Given the description of an element on the screen output the (x, y) to click on. 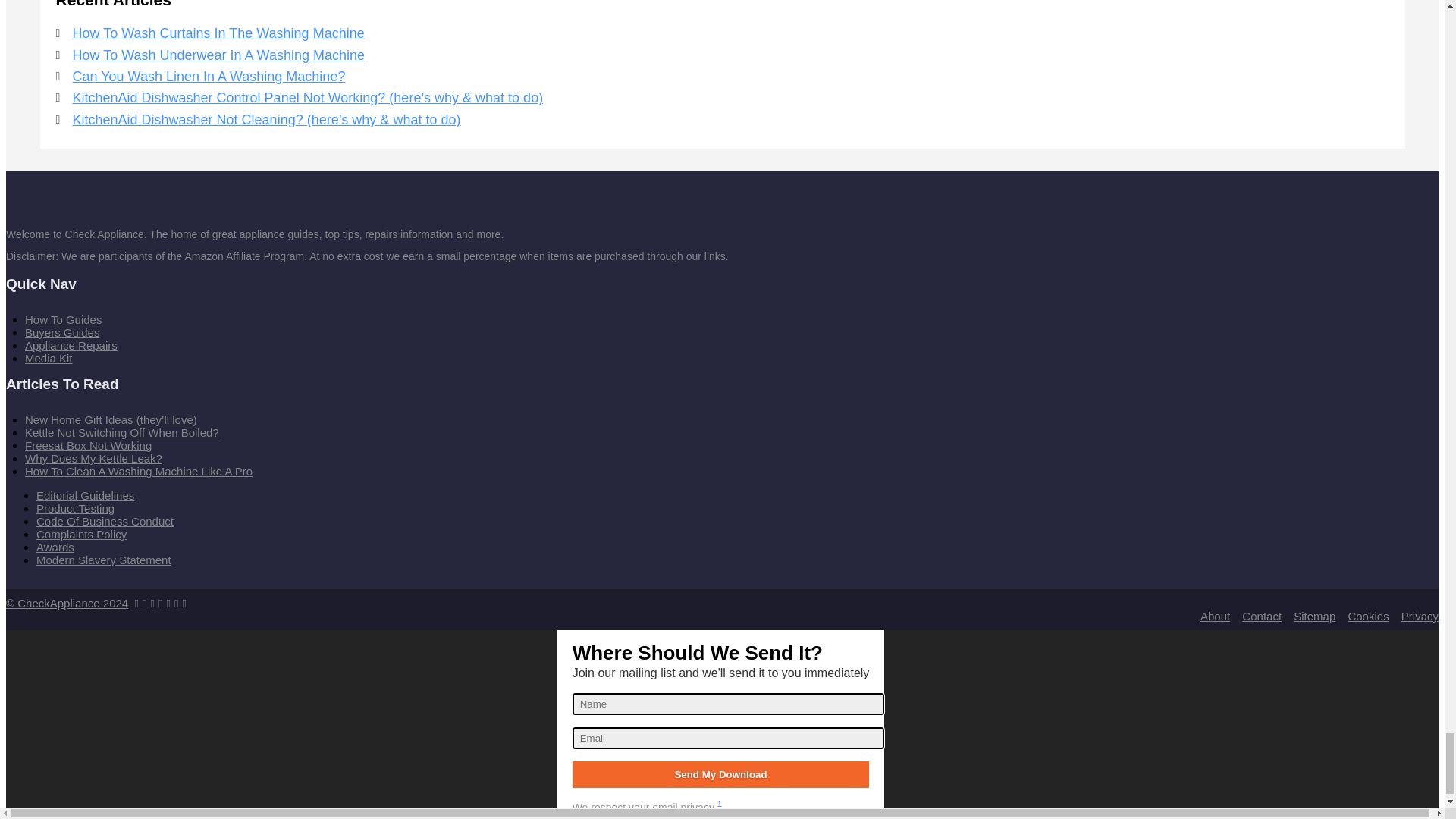
Send My Download (720, 774)
